Given the description of an element on the screen output the (x, y) to click on. 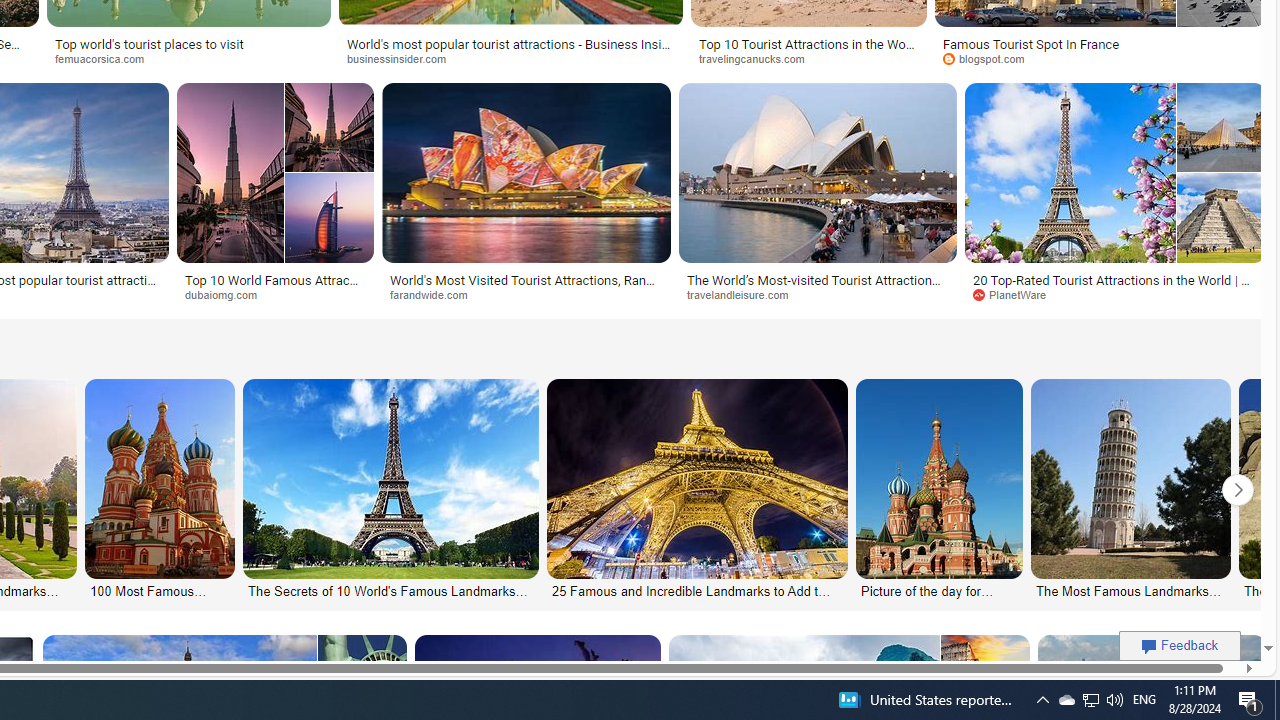
farandwide.com (436, 294)
100 Most Famous Landmarks Around the World | RAX BOOK (161, 589)
World's most popular tourist attractions - Business Insider (511, 50)
travelandleisure.com (817, 295)
dubaiomg.com (228, 294)
businessinsider.com (403, 57)
